Given the description of an element on the screen output the (x, y) to click on. 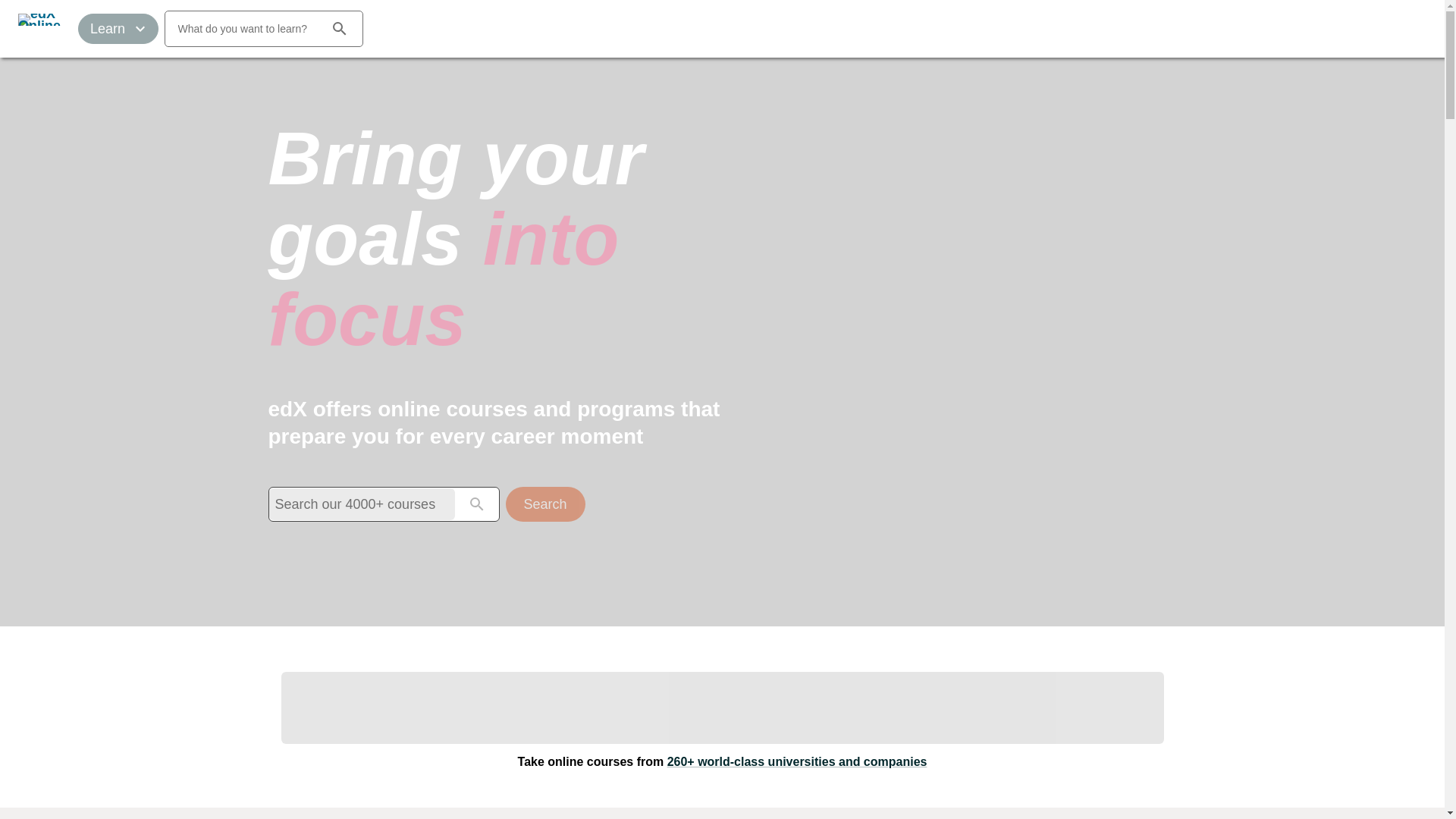
Submit your search query (476, 503)
Learn (118, 28)
Submit your search query (545, 503)
